Given the description of an element on the screen output the (x, y) to click on. 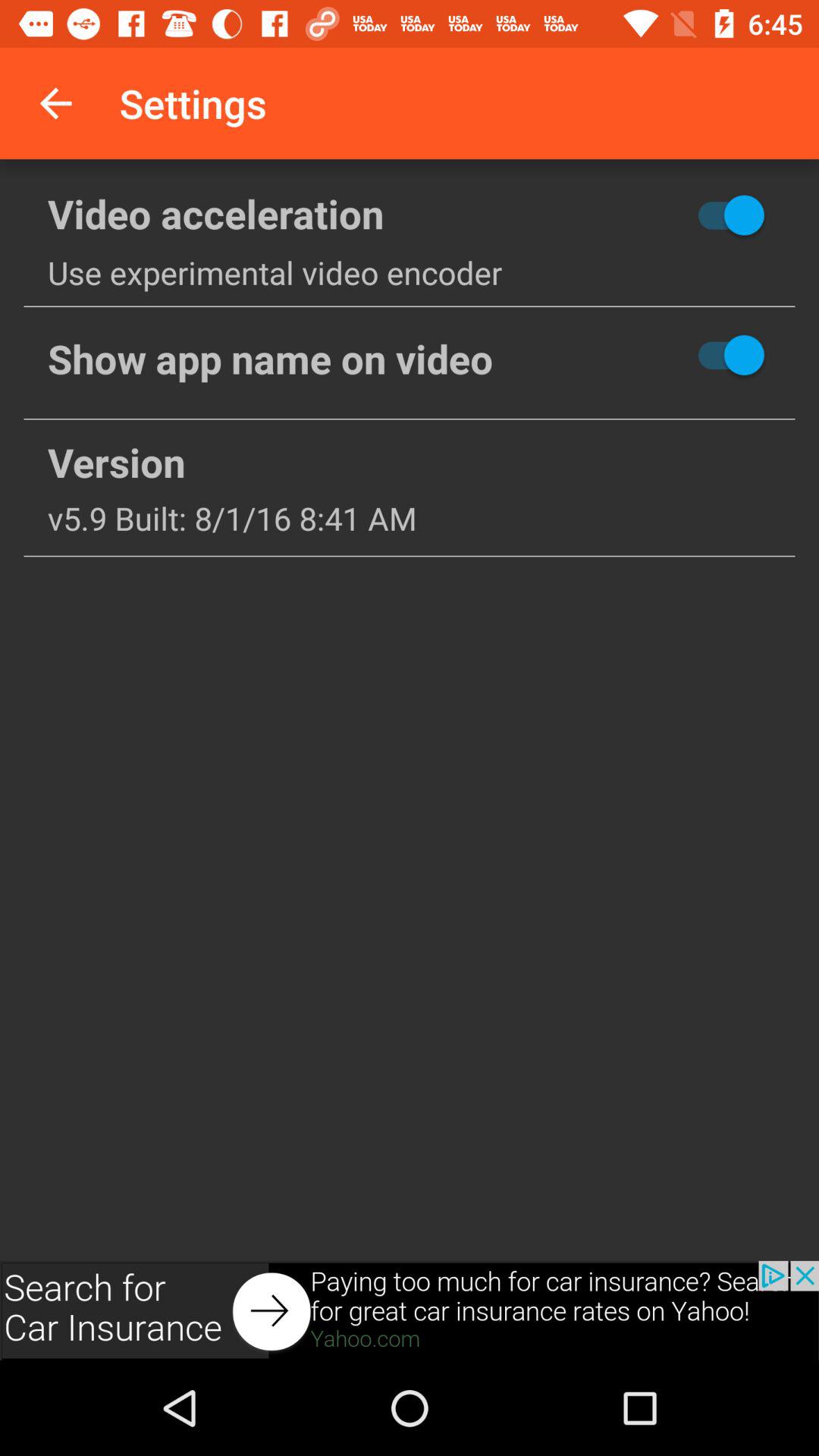
disable the option (675, 354)
